Given the description of an element on the screen output the (x, y) to click on. 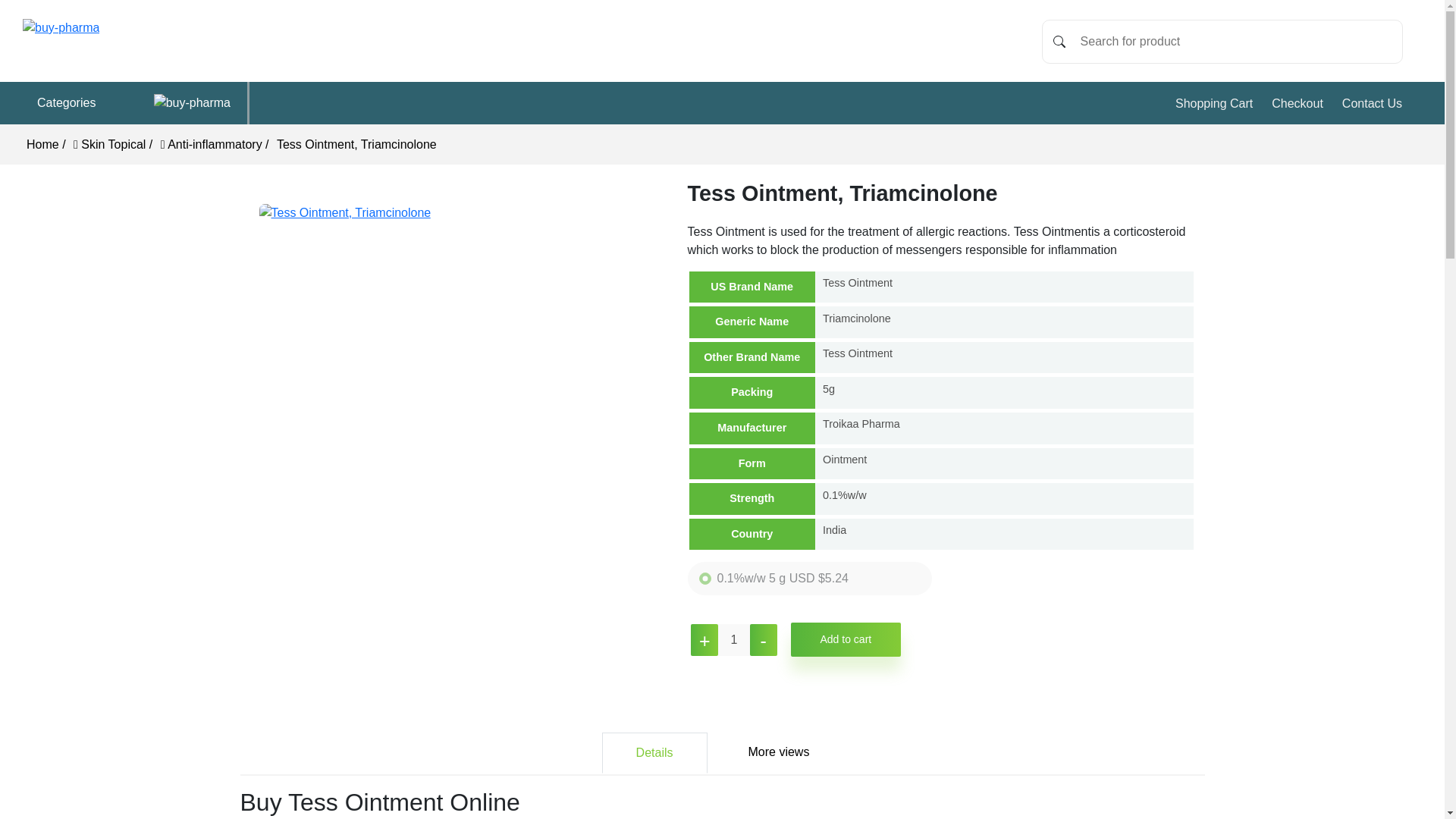
Categories (138, 102)
9128 (704, 578)
1 (733, 640)
